Given the description of an element on the screen output the (x, y) to click on. 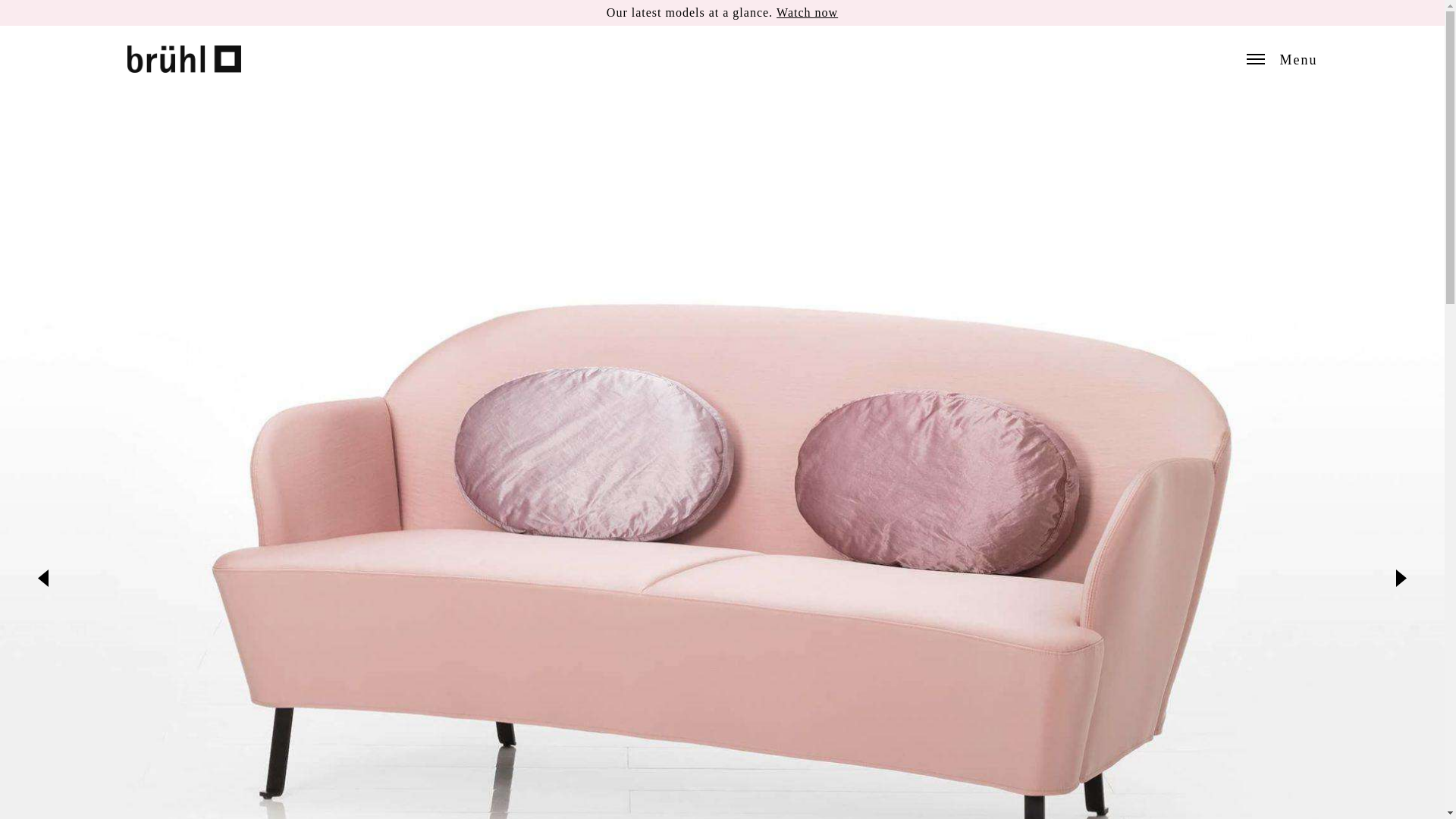
Watch now (807, 11)
Menu (1281, 58)
